Given the description of an element on the screen output the (x, y) to click on. 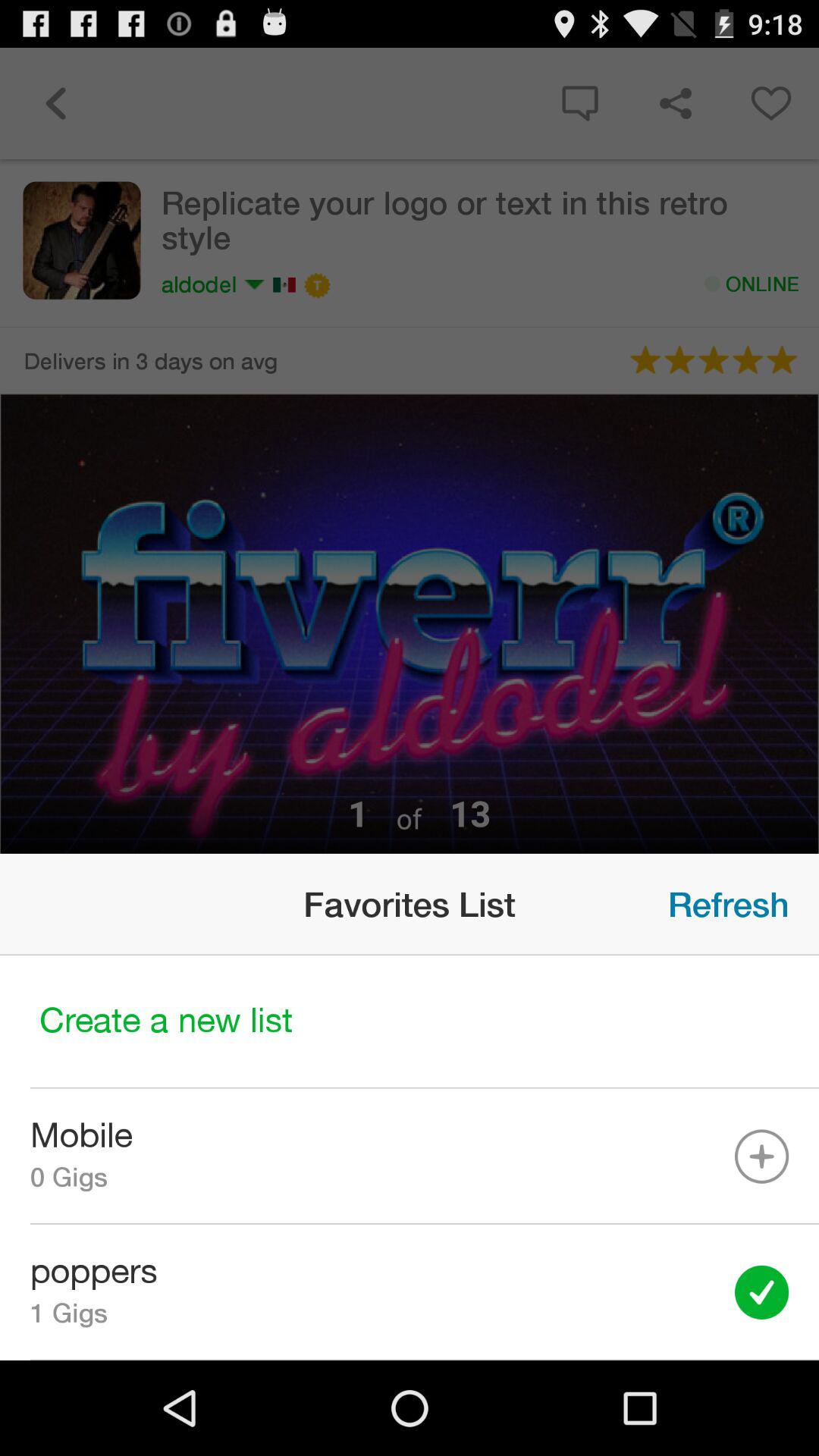
select icon on the right (728, 903)
